Given the description of an element on the screen output the (x, y) to click on. 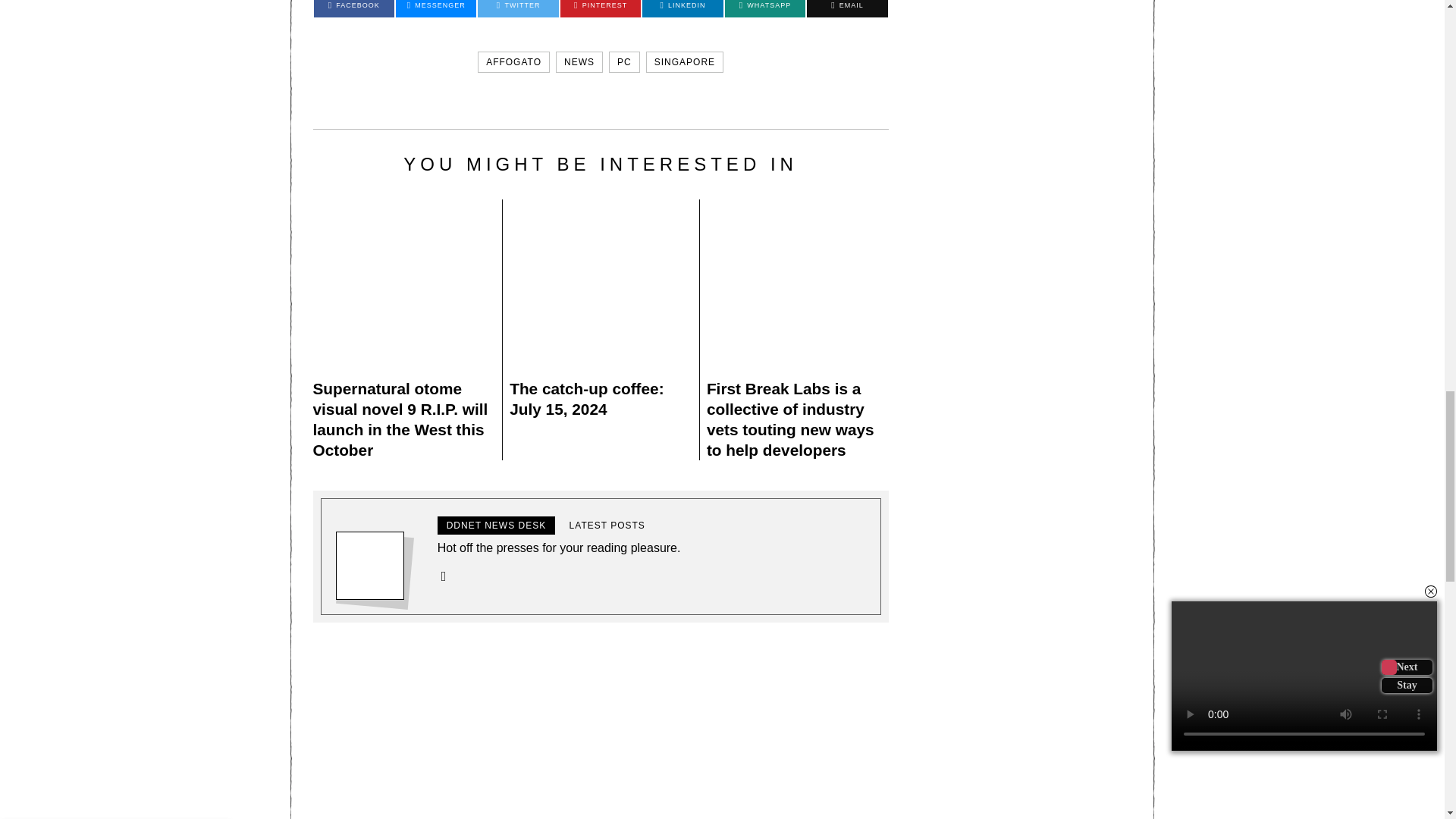
NEWS (579, 61)
WHATSAPP (765, 8)
EMAIL (846, 8)
FACEBOOK (354, 8)
PINTEREST (600, 8)
AFFOGATO (513, 61)
TWITTER (517, 8)
MESSENGER (436, 8)
LINKEDIN (682, 8)
